Given the description of an element on the screen output the (x, y) to click on. 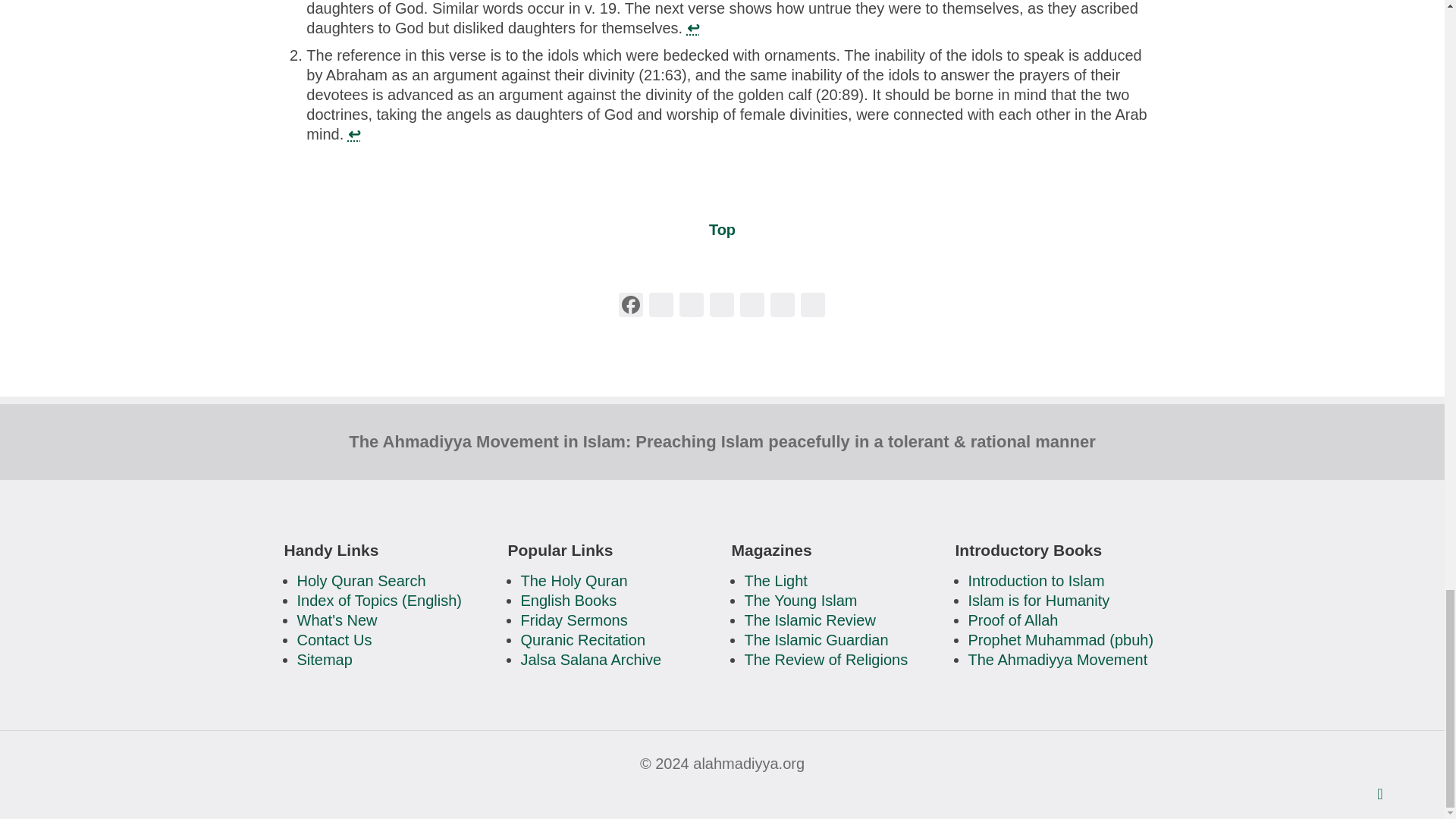
Google Translate (812, 306)
Copy Link (782, 306)
Facebook (630, 306)
PrintFriendly (721, 306)
Email (751, 306)
Twitter (691, 306)
WhatsApp (661, 306)
